Given the description of an element on the screen output the (x, y) to click on. 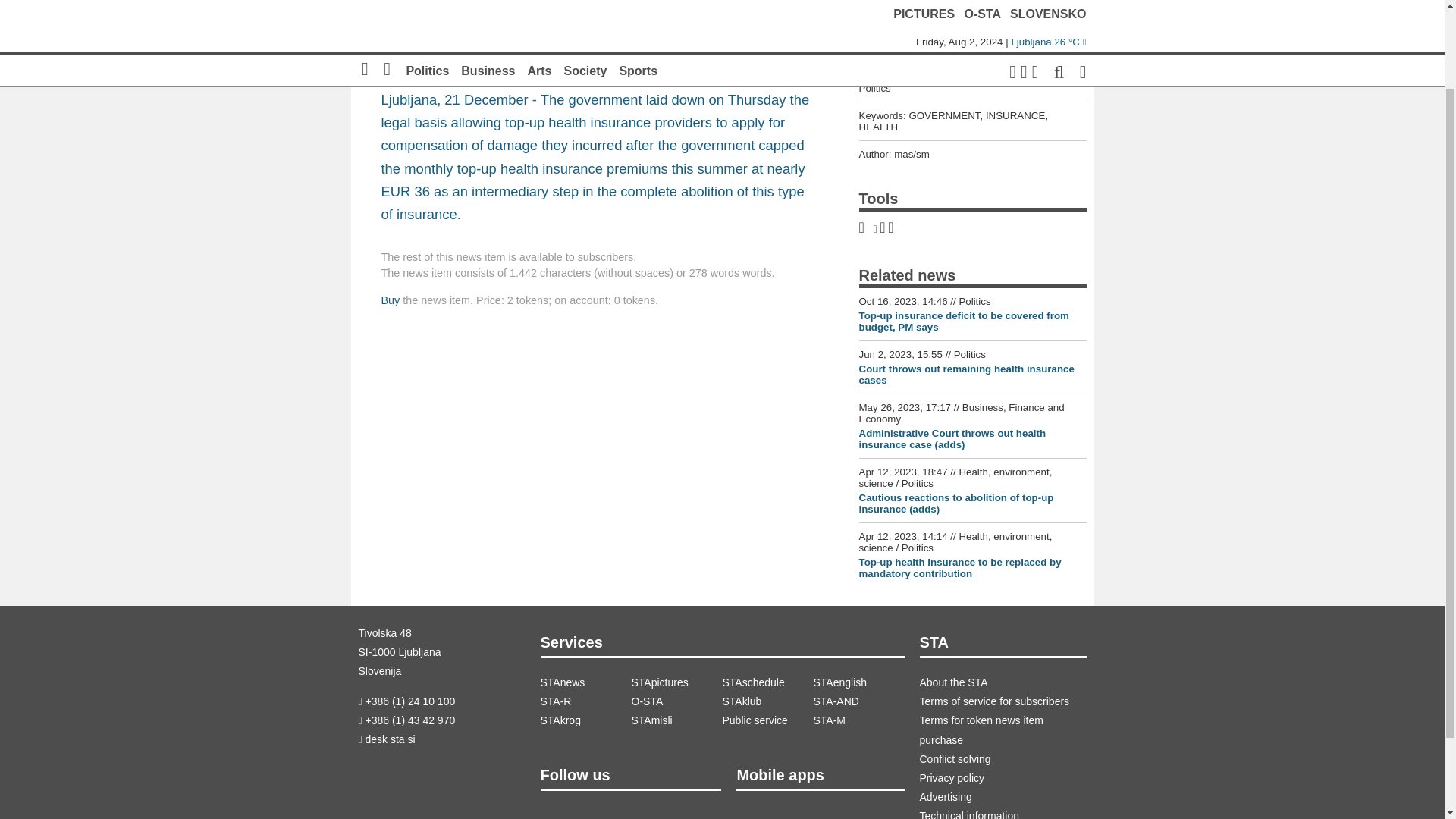
STAschedule (767, 682)
STApictures (676, 682)
STA-R (585, 701)
O-STA (676, 701)
Top-up insurance deficit to be covered from budget, PM says (963, 321)
Court throws out remaining health insurance cases (966, 374)
STAnews (585, 682)
STAenglish (858, 682)
STAklub (767, 701)
Buy (389, 300)
